Given the description of an element on the screen output the (x, y) to click on. 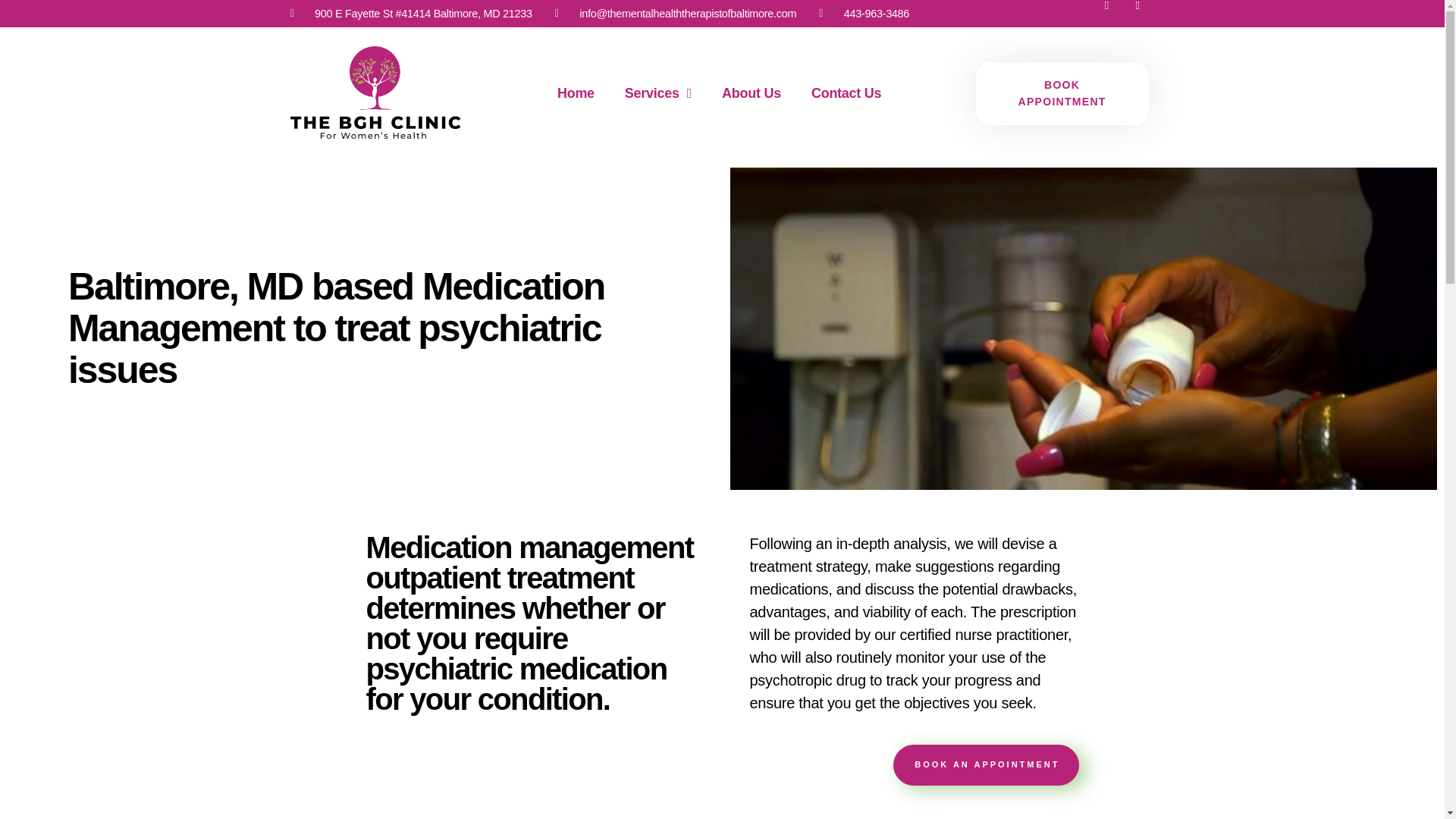
Services (658, 93)
About Us (751, 93)
BOOK APPOINTMENT (1061, 93)
Home (575, 93)
BOOK AN APPOINTMENT (742, 764)
Contact Us (846, 93)
